Given the description of an element on the screen output the (x, y) to click on. 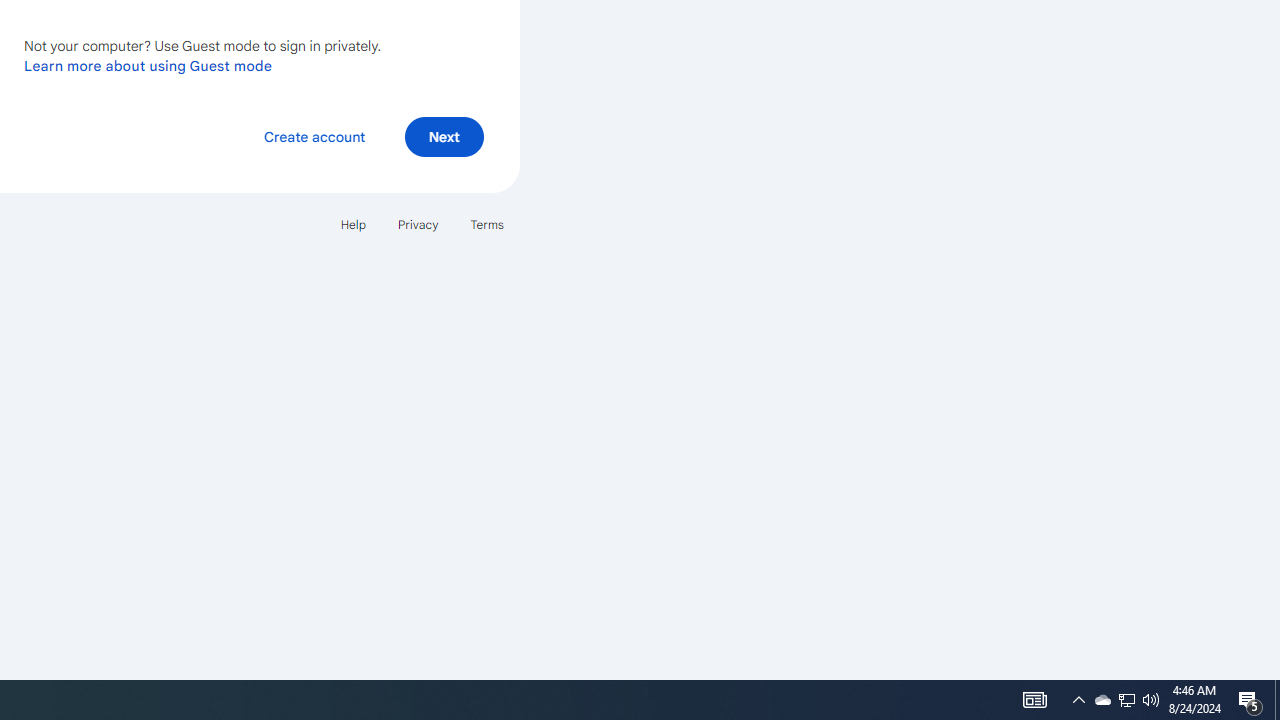
Learn more about using Guest mode (148, 65)
Create account (314, 135)
Next (443, 135)
Terms (486, 224)
Help (352, 224)
Privacy (417, 224)
